Given the description of an element on the screen output the (x, y) to click on. 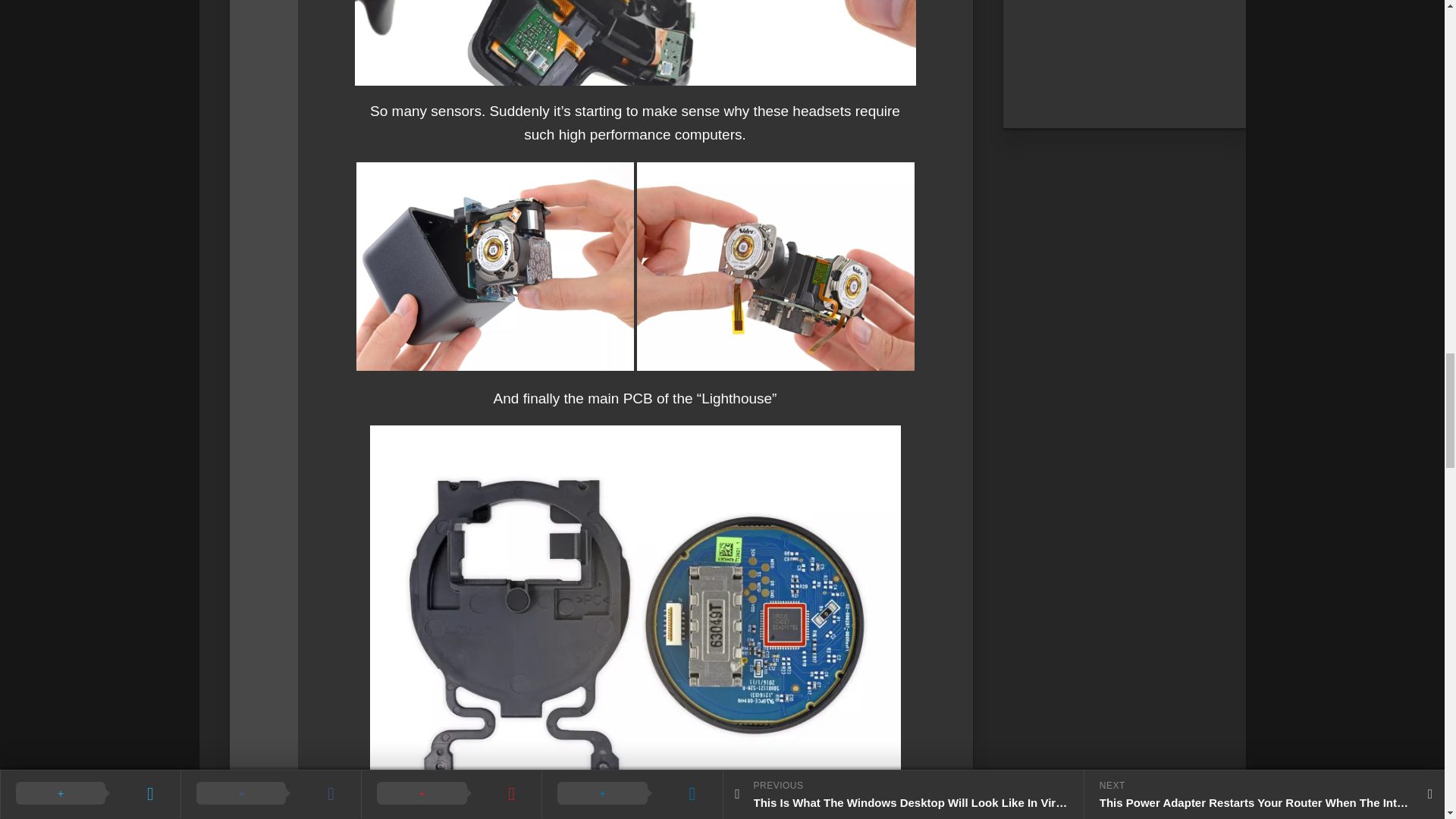
Yw2tlbf3i5fbx6rE (775, 266)
EEVWDvkfGnNkIGwQ (494, 266)
